Given the description of an element on the screen output the (x, y) to click on. 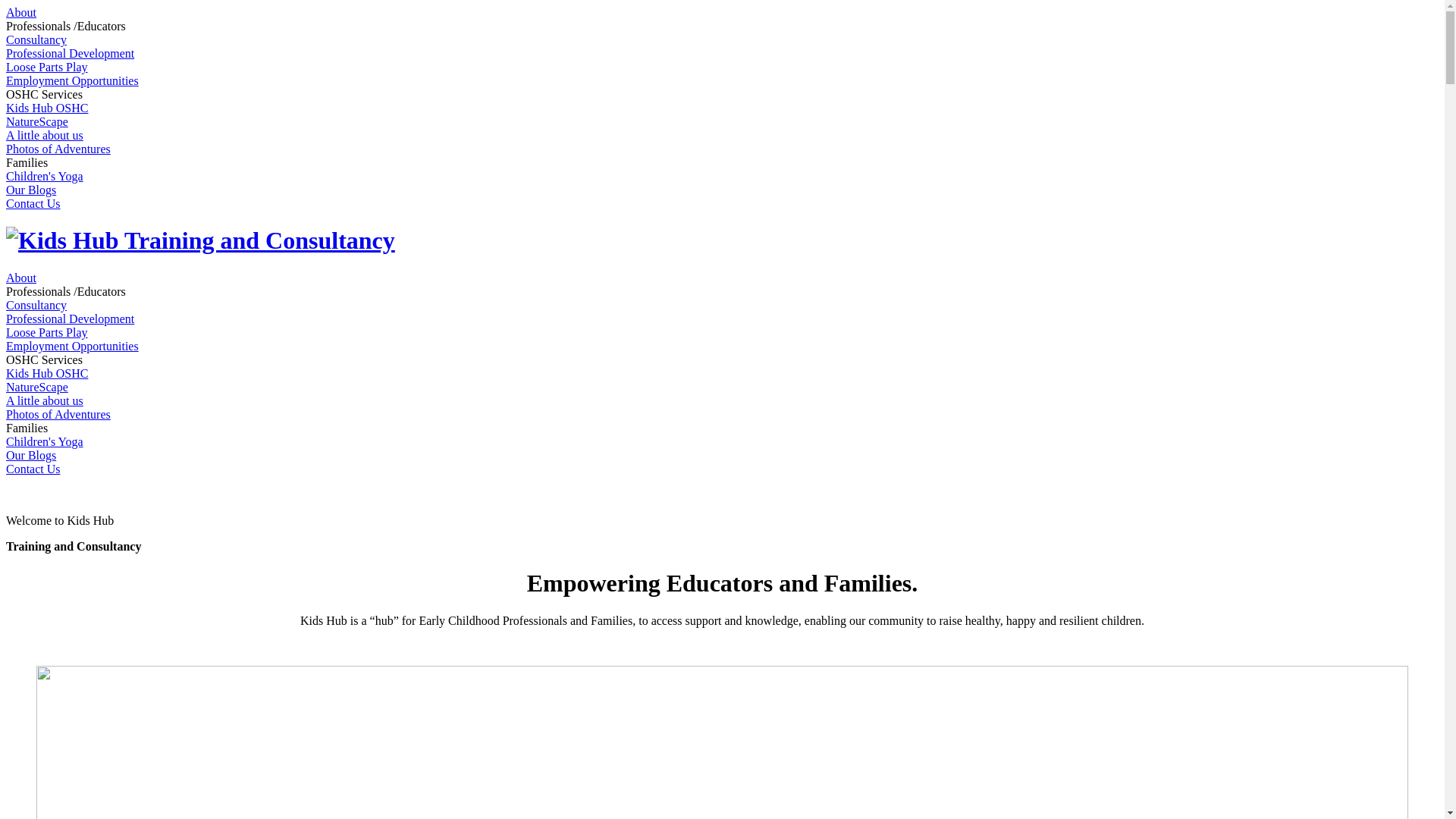
Photos of Adventures Element type: text (58, 148)
Contact Us Element type: text (33, 468)
About Element type: text (21, 12)
Kids Hub OSHC Element type: text (46, 107)
Our Blogs Element type: text (31, 189)
Kids Hub OSHC Element type: text (46, 373)
Professional Development Element type: text (70, 318)
NatureScape Element type: text (37, 386)
Consultancy Element type: text (36, 304)
Children's Yoga Element type: text (44, 441)
Loose Parts Play Element type: text (46, 332)
Photos of Adventures Element type: text (58, 413)
Employment Opportunities Element type: text (72, 80)
Our Blogs Element type: text (31, 454)
Professional Development Element type: text (70, 53)
Employment Opportunities Element type: text (72, 345)
Contact Us Element type: text (33, 203)
Loose Parts Play Element type: text (46, 66)
Children's Yoga Element type: text (44, 175)
A little about us Element type: text (44, 400)
A little about us Element type: text (44, 134)
About Element type: text (21, 277)
Consultancy Element type: text (36, 39)
NatureScape Element type: text (37, 121)
